Given the description of an element on the screen output the (x, y) to click on. 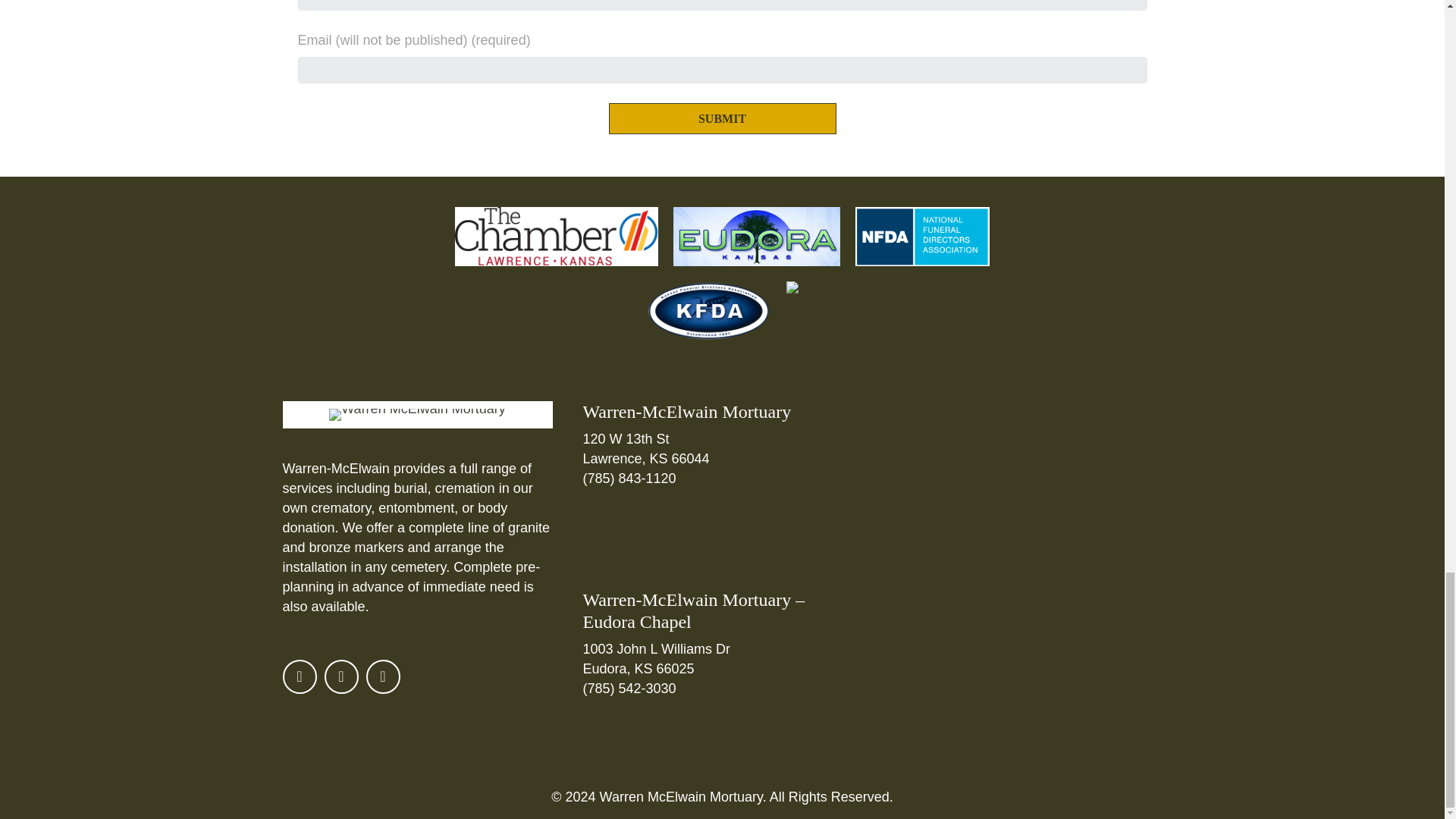
Submit (721, 118)
Warren McElwain Mortuary (417, 414)
